Given the description of an element on the screen output the (x, y) to click on. 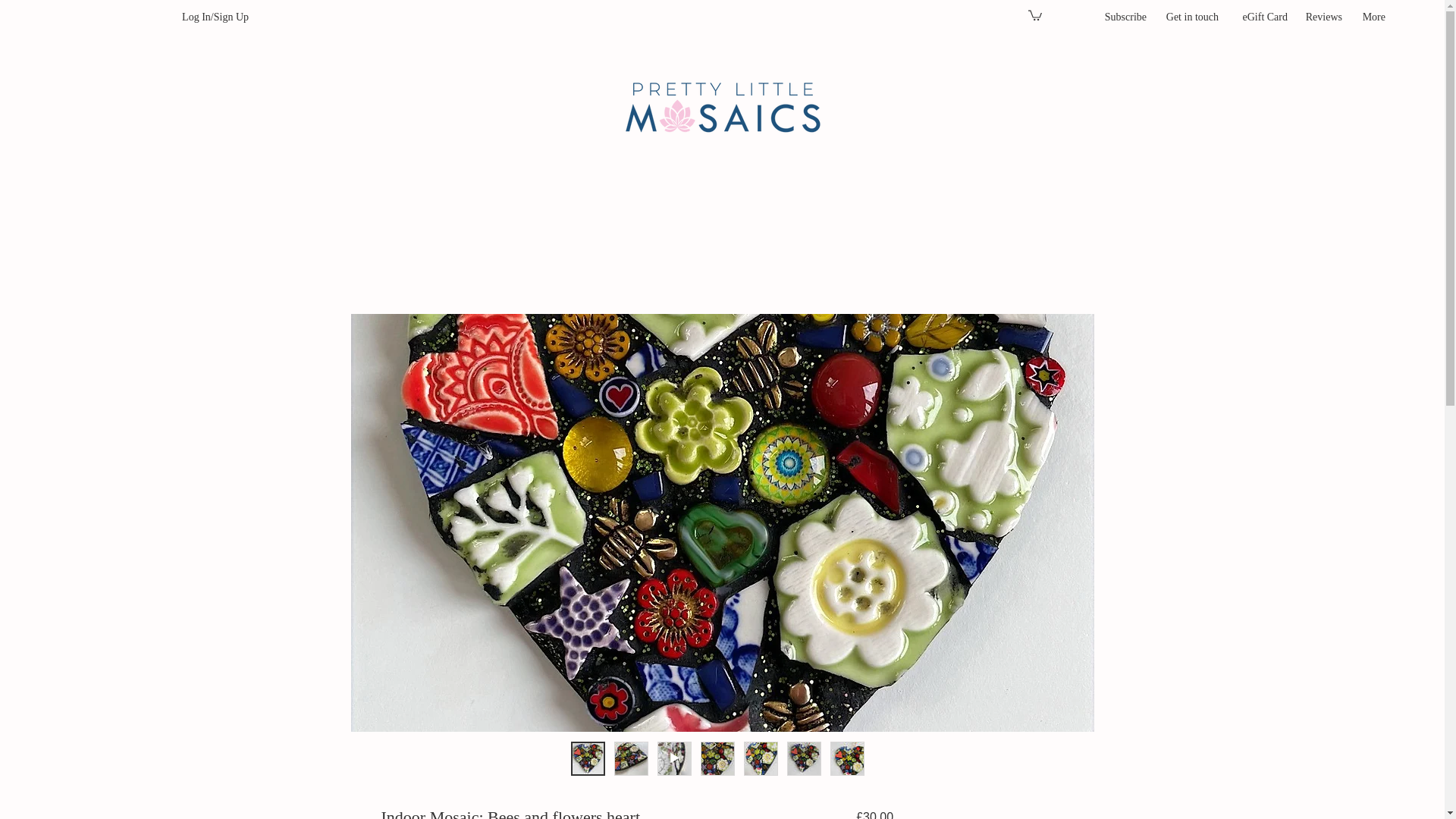
eGift Card (1260, 16)
Get in touch (1189, 16)
Reviews (1322, 16)
Subscribe (1123, 16)
